Given the description of an element on the screen output the (x, y) to click on. 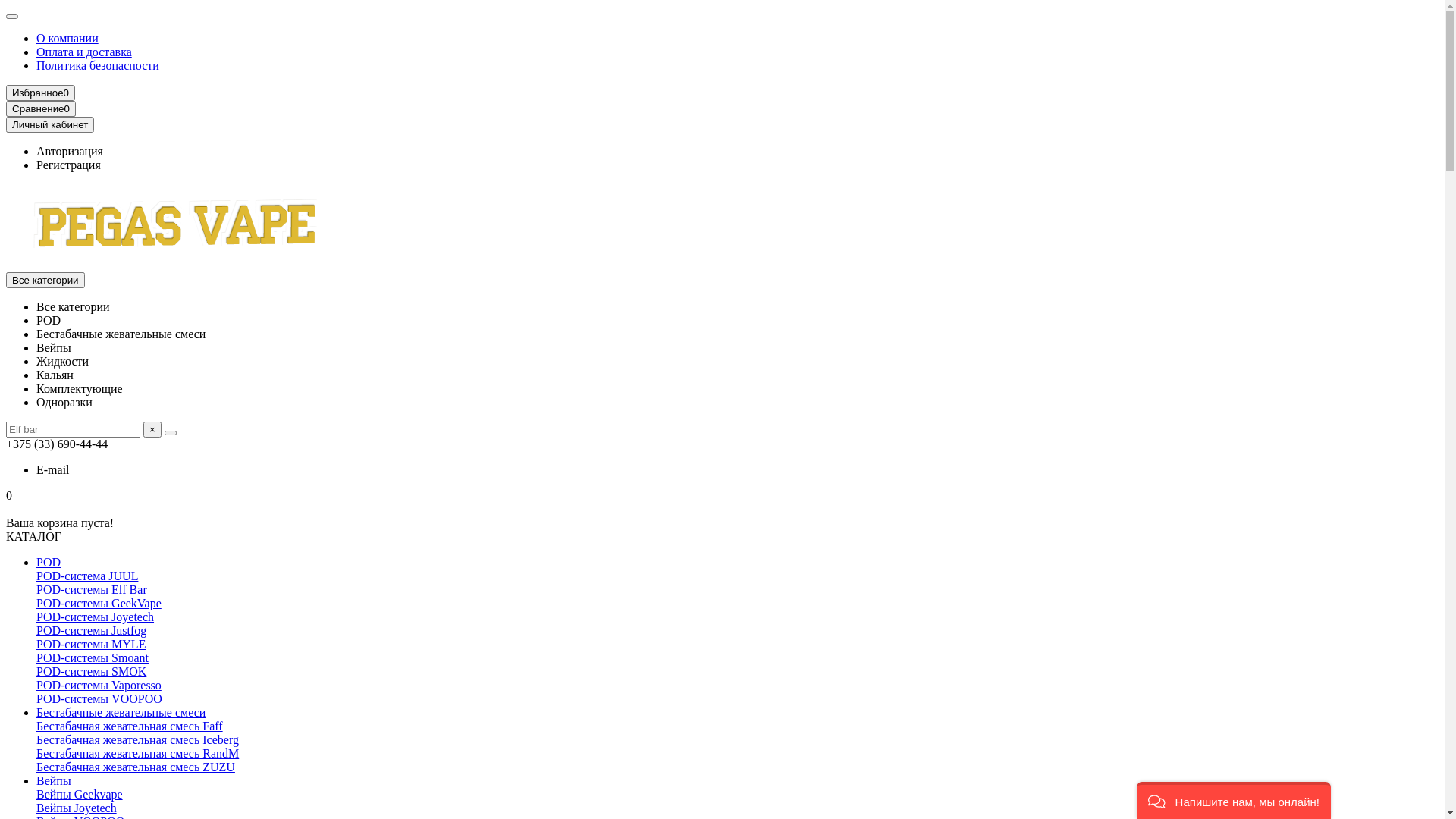
0 Element type: text (722, 495)
E-mail Element type: text (52, 469)
POD Element type: text (48, 319)
PegasVape Element type: hover (176, 226)
POD Element type: text (48, 561)
